Given the description of an element on the screen output the (x, y) to click on. 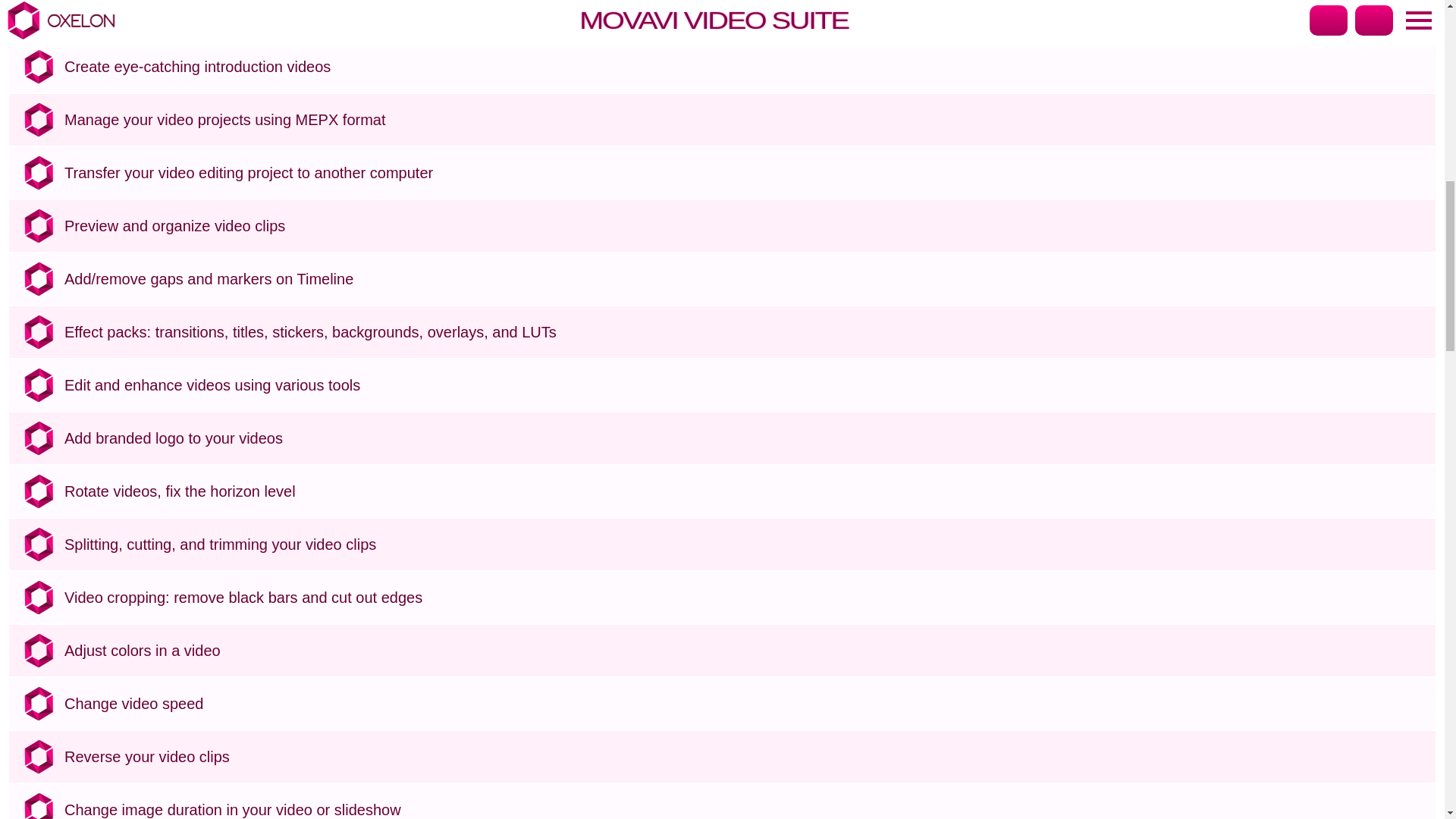
Reverse your video clips (746, 756)
Manage your video projects using MEPX format (746, 119)
Edit and enhance videos using various tools (746, 384)
Add branded logo to your videos (746, 438)
Rotate videos, fix the horizon level (746, 491)
Splitting, cutting, and trimming your video clips (746, 544)
Transfer your video editing project to another computer (746, 172)
Change video speed (746, 703)
Adjust colors in a video (746, 650)
